Given the description of an element on the screen output the (x, y) to click on. 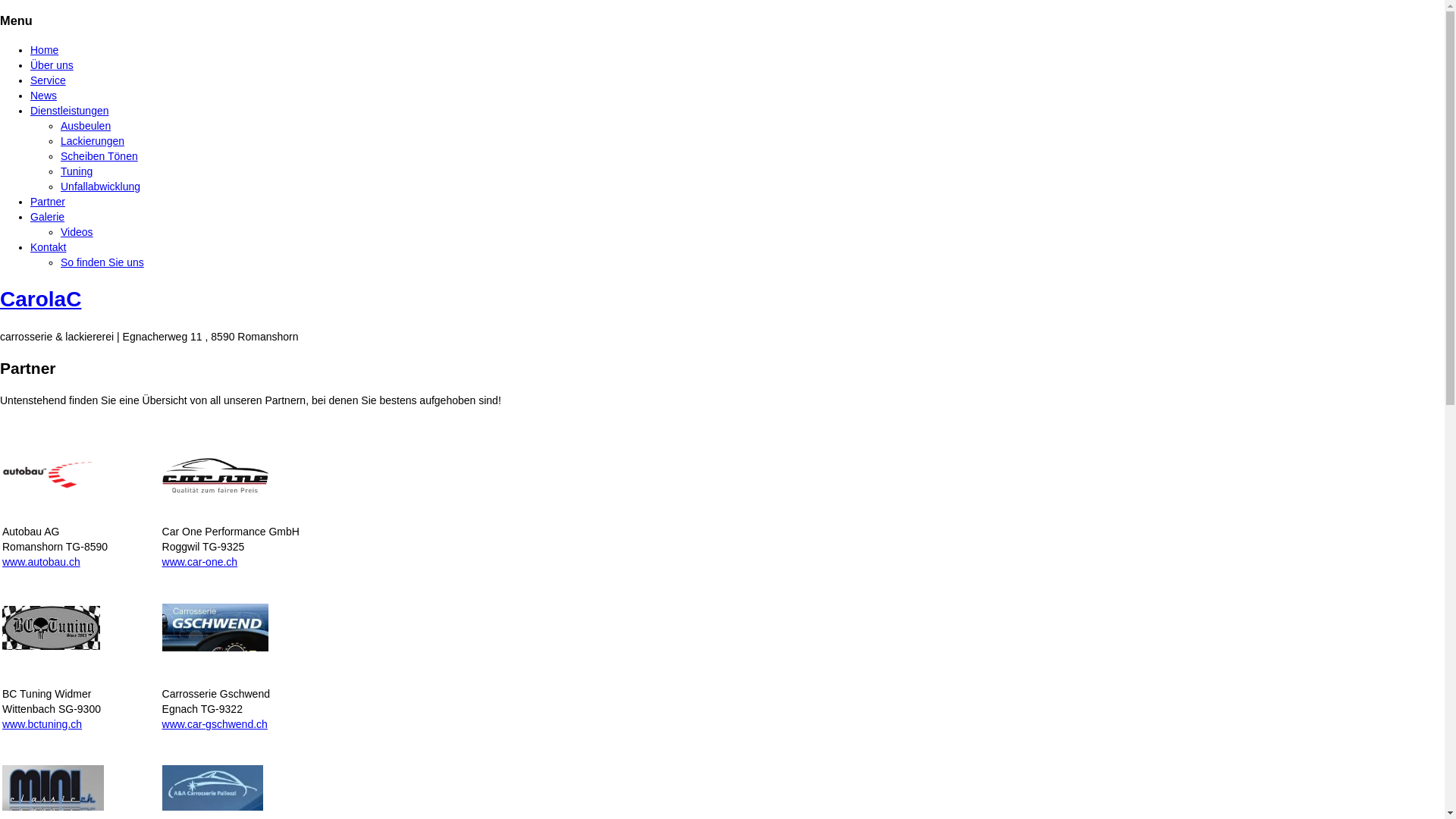
www.car-one.ch Element type: text (200, 561)
So finden Sie uns Element type: text (102, 262)
Service Element type: text (47, 80)
Unfallabwicklung Element type: text (100, 186)
Partner Element type: text (47, 201)
Tuning Element type: text (76, 171)
www.car-gschwend.ch Element type: text (214, 724)
www.autobau.ch Element type: text (41, 561)
Videos Element type: text (76, 231)
CarolaC Element type: text (40, 298)
Lackierungen Element type: text (92, 140)
Ausbeulen Element type: text (85, 125)
Dienstleistungen Element type: text (69, 110)
Home Element type: text (44, 49)
News Element type: text (43, 95)
Galerie Element type: text (47, 216)
www.bctuning.ch Element type: text (41, 724)
Kontakt Element type: text (47, 247)
